Given the description of an element on the screen output the (x, y) to click on. 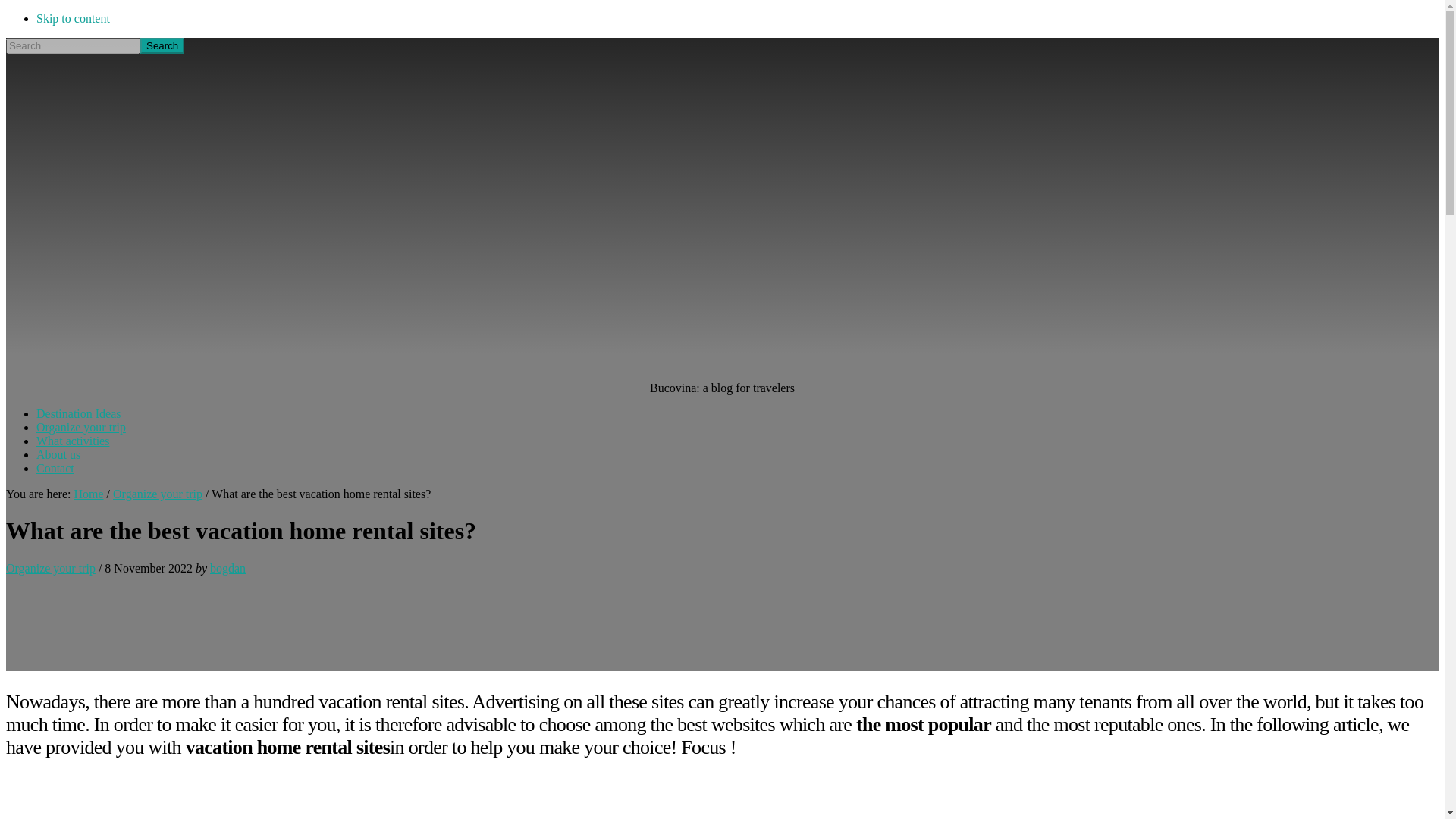
Organize your trip (80, 427)
Search (161, 45)
Home (88, 493)
About us (58, 454)
What activities (72, 440)
bogdan (227, 567)
Skip to content (73, 18)
Contact (55, 468)
Organize your trip (50, 567)
Search (161, 45)
Destination Ideas (78, 413)
Organize your trip (157, 493)
Search (161, 45)
